Given the description of an element on the screen output the (x, y) to click on. 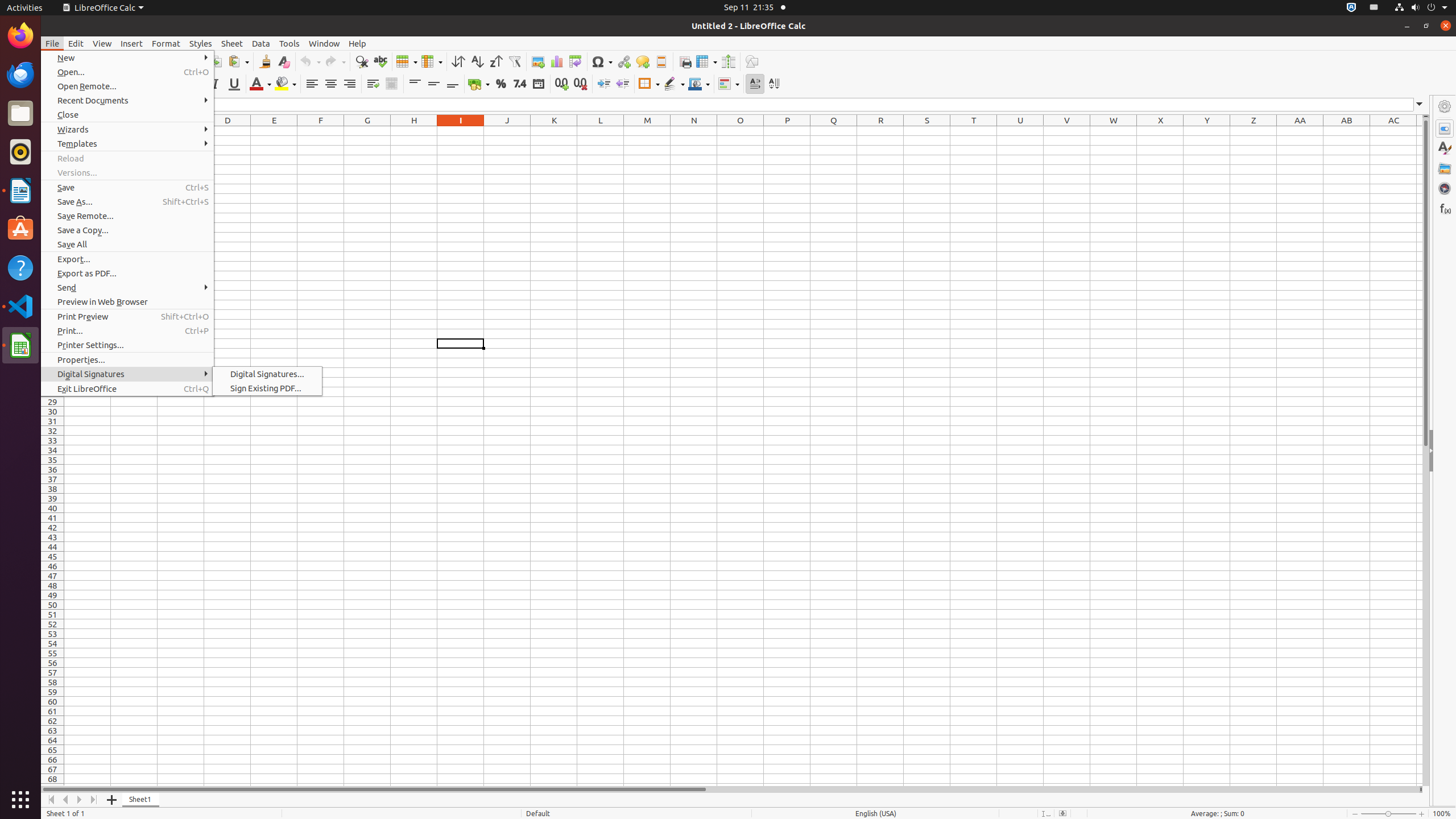
Data Element type: menu (260, 43)
Exit LibreOffice Element type: menu-item (126, 388)
Comment Element type: push-button (642, 61)
Increase Element type: push-button (603, 83)
X1 Element type: table-cell (1159, 130)
